Given the description of an element on the screen output the (x, y) to click on. 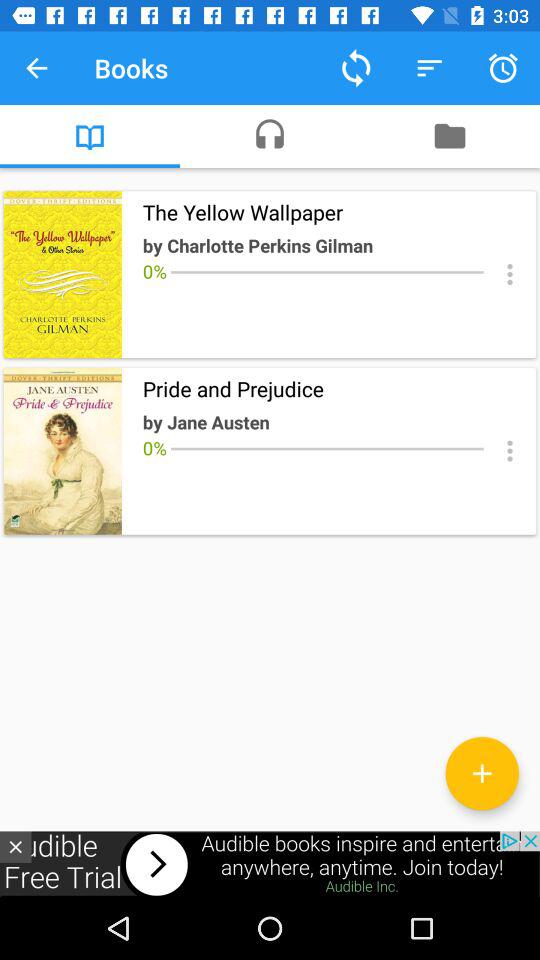
share the article (509, 274)
